Given the description of an element on the screen output the (x, y) to click on. 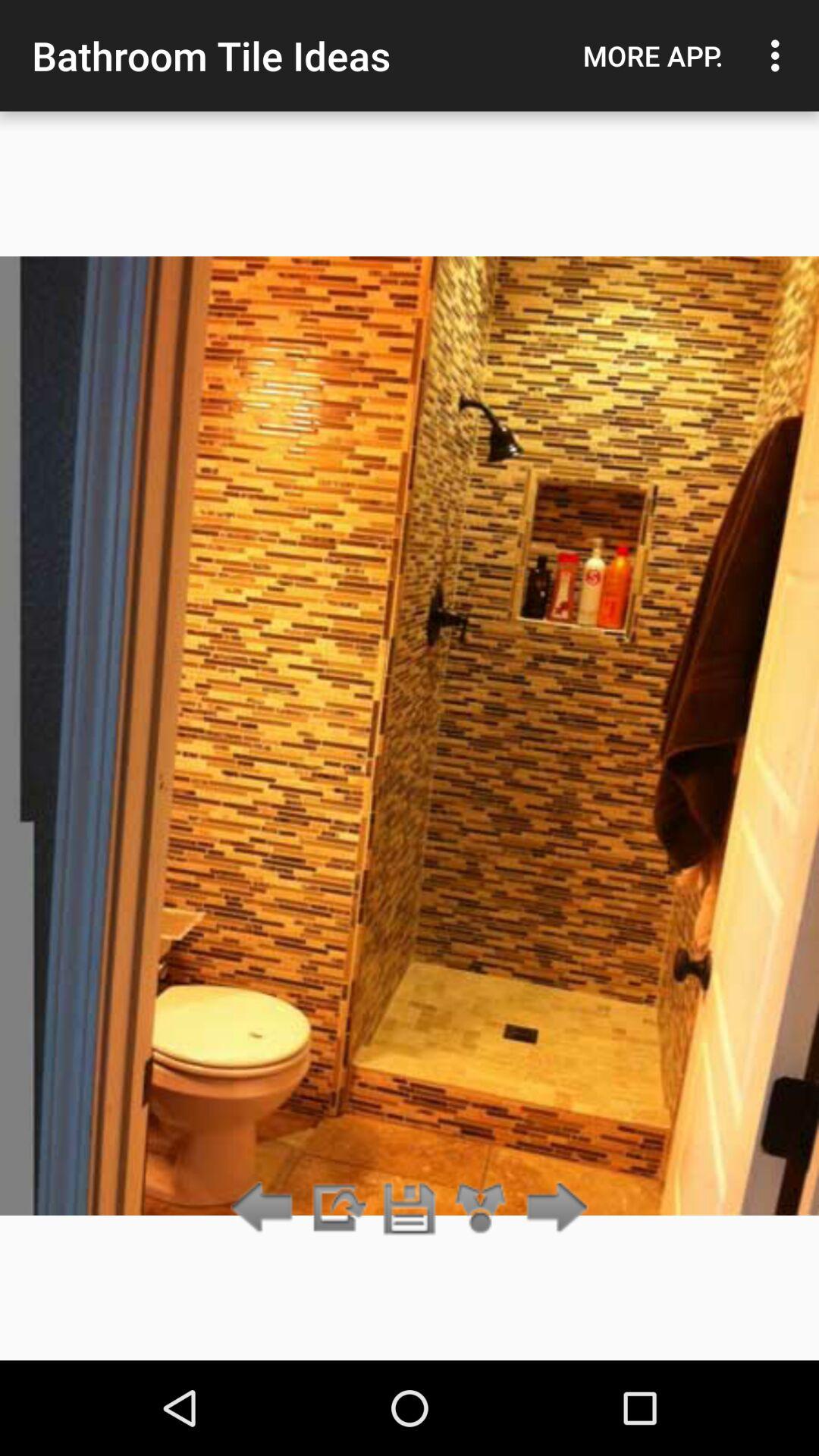
move to next image (552, 1209)
